Given the description of an element on the screen output the (x, y) to click on. 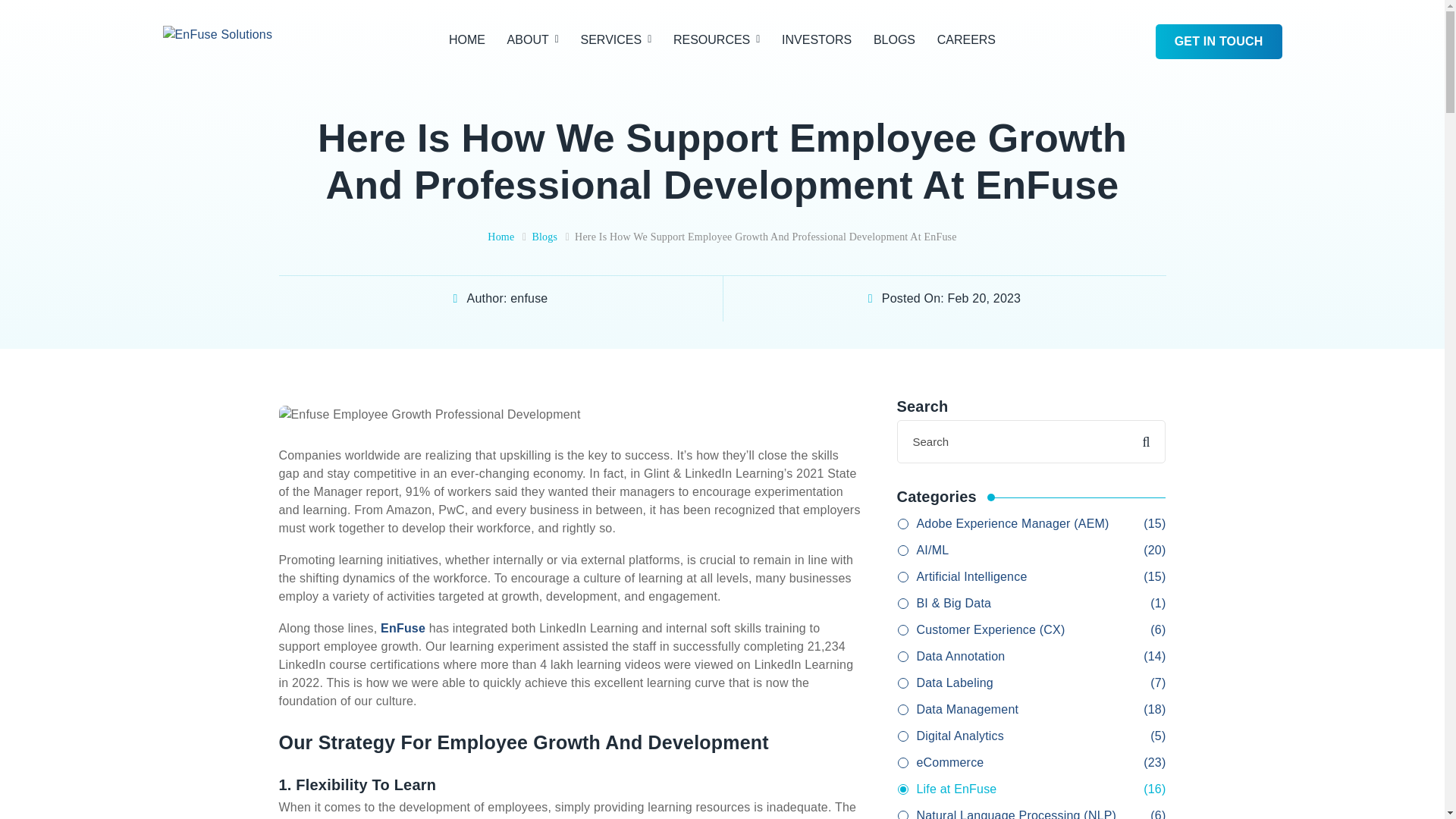
SERVICES (616, 40)
About (532, 40)
INVESTORS (816, 40)
EnFuse Solutions (216, 33)
ABOUT (532, 40)
Services (616, 40)
RESOURCES (716, 40)
